Given the description of an element on the screen output the (x, y) to click on. 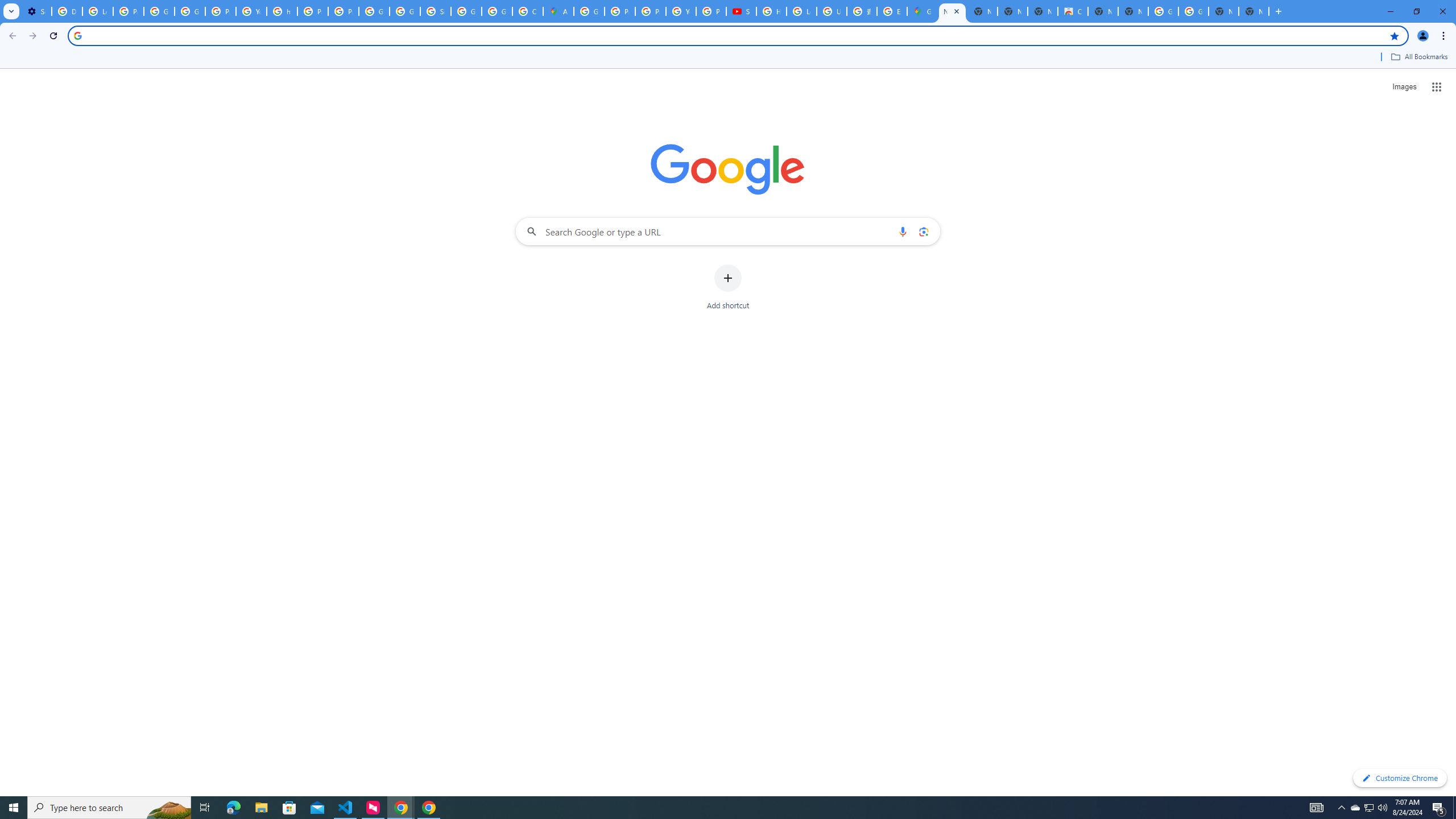
Subscriptions - YouTube (740, 11)
YouTube (681, 11)
Learn how to find your photos - Google Photos Help (97, 11)
https://scholar.google.com/ (282, 11)
